Given the description of an element on the screen output the (x, y) to click on. 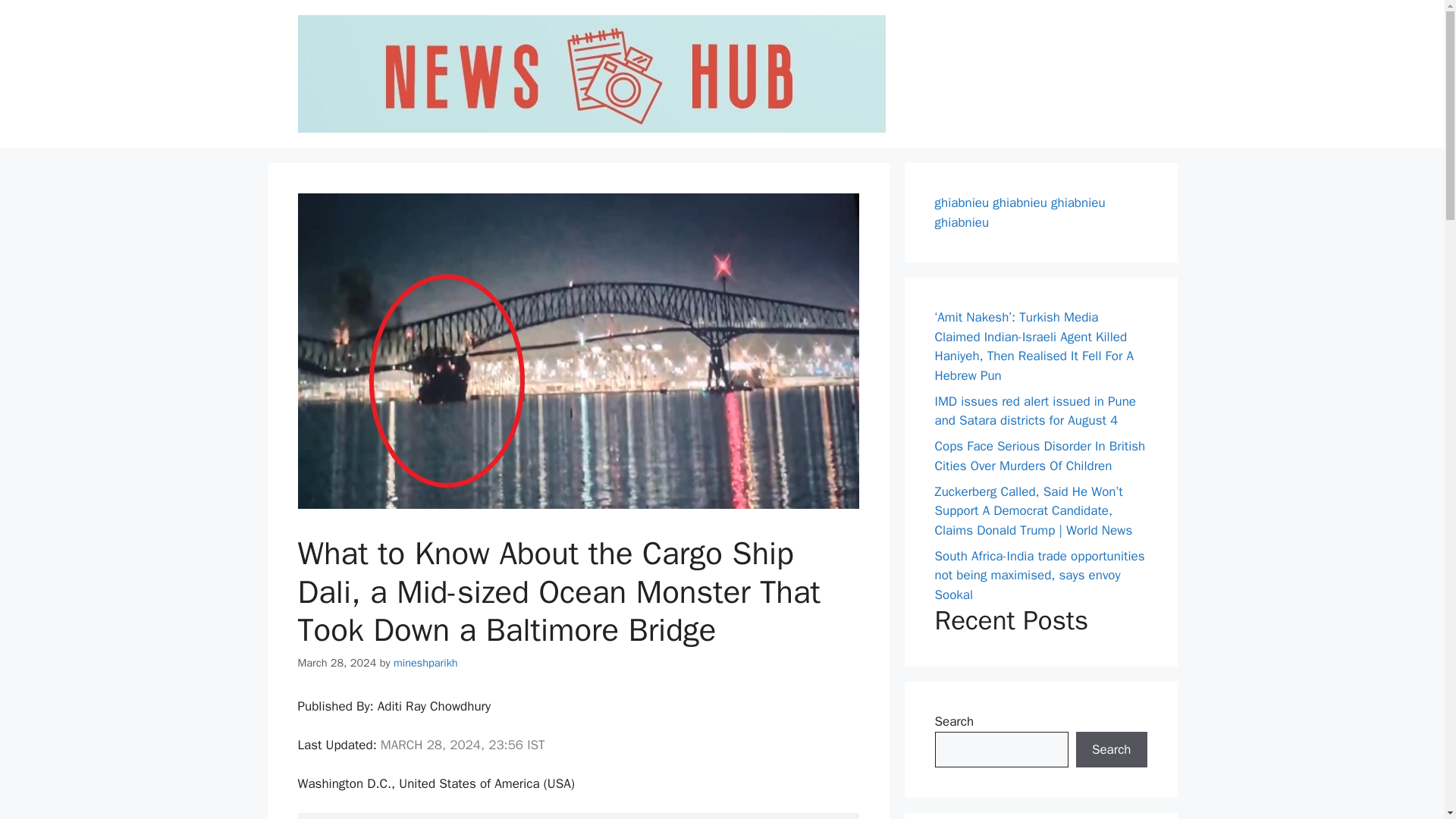
View all posts by mineshparikh (425, 662)
ghiabnieu (1078, 202)
ghiabnieu (961, 221)
mineshparikh (425, 662)
ghiabnieu (961, 202)
ghiabnieu (1019, 202)
